Given the description of an element on the screen output the (x, y) to click on. 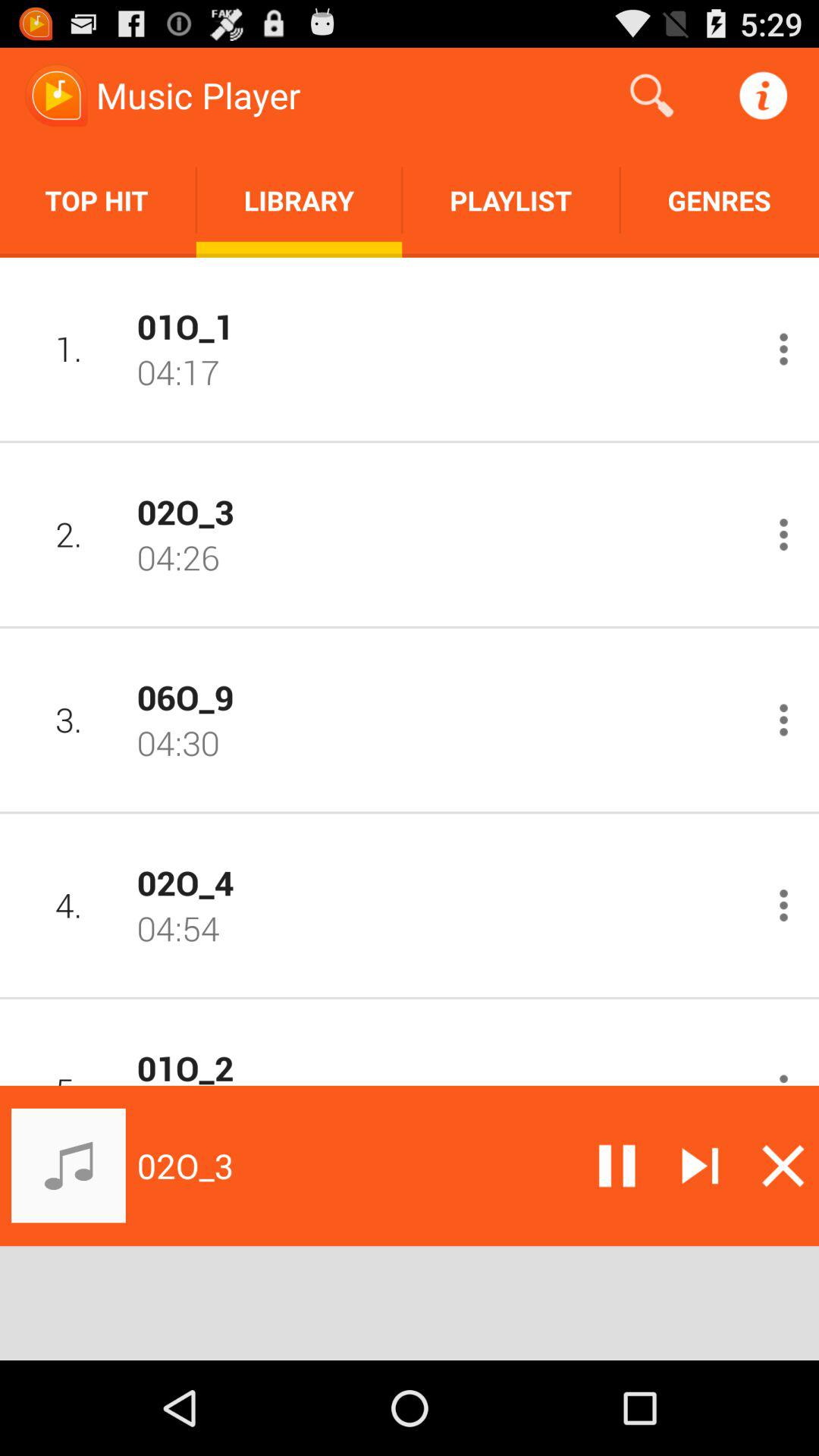
flip until 06o_9 icon (442, 696)
